Given the description of an element on the screen output the (x, y) to click on. 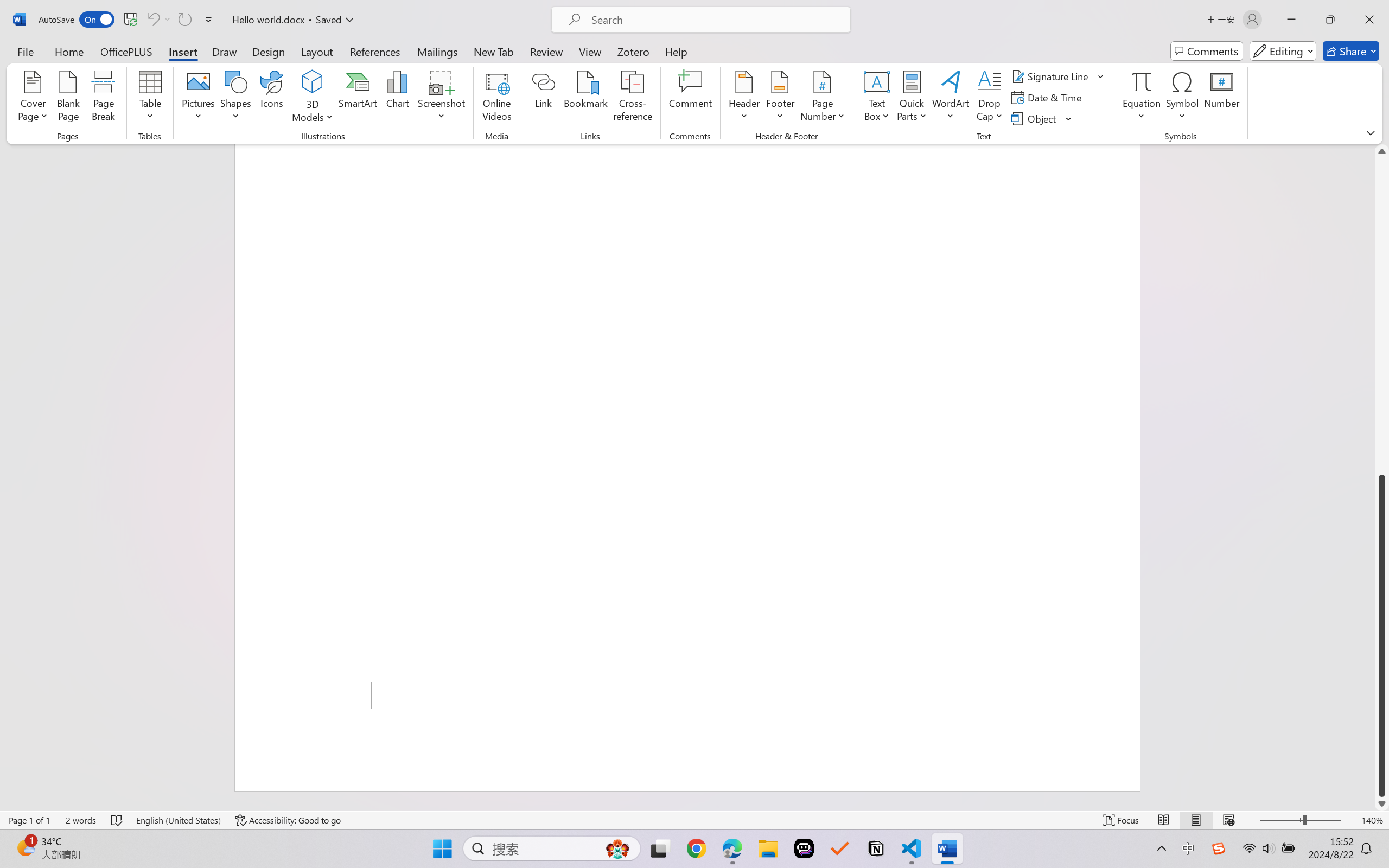
Object... (1042, 118)
